Given the description of an element on the screen output the (x, y) to click on. 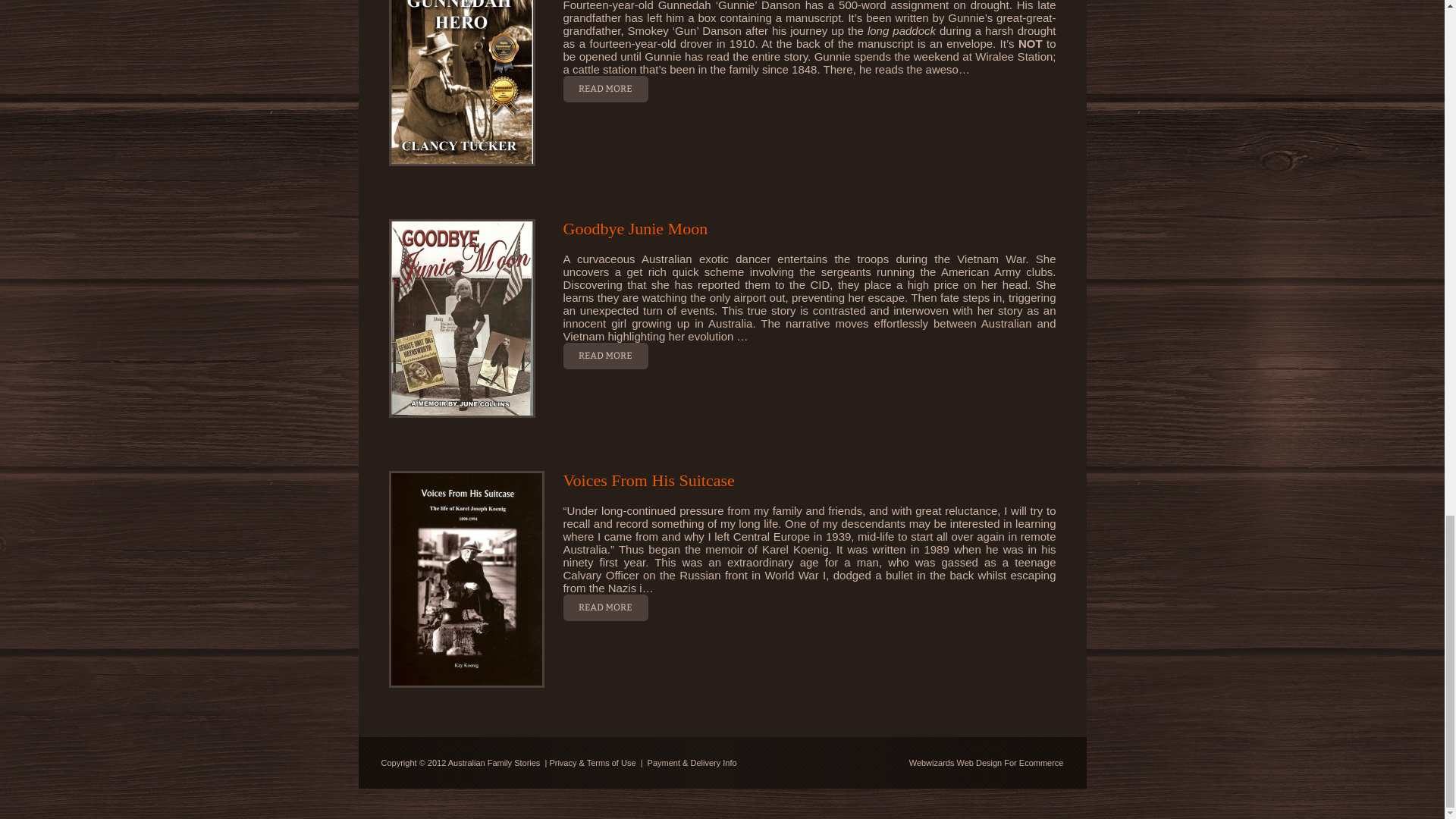
Goodbye Junie Moon (634, 228)
Read More (604, 356)
Voices From His Suitcase (647, 479)
Webwizards (931, 762)
Read More (604, 89)
Read More (604, 607)
